Given the description of an element on the screen output the (x, y) to click on. 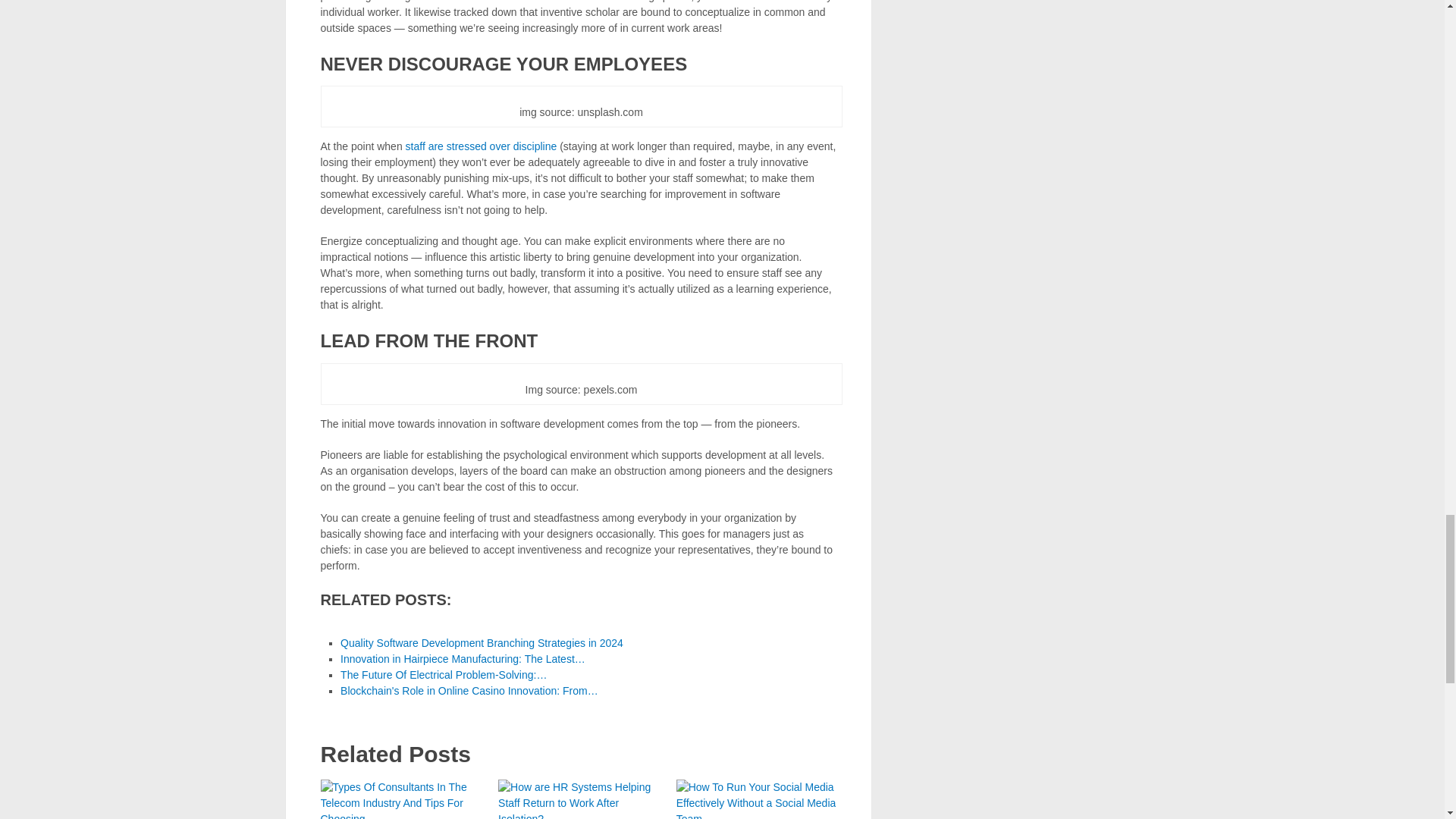
staff are stressed over discipline (481, 146)
Quality Software Development Branching Strategies in 2024 (481, 643)
